Given the description of an element on the screen output the (x, y) to click on. 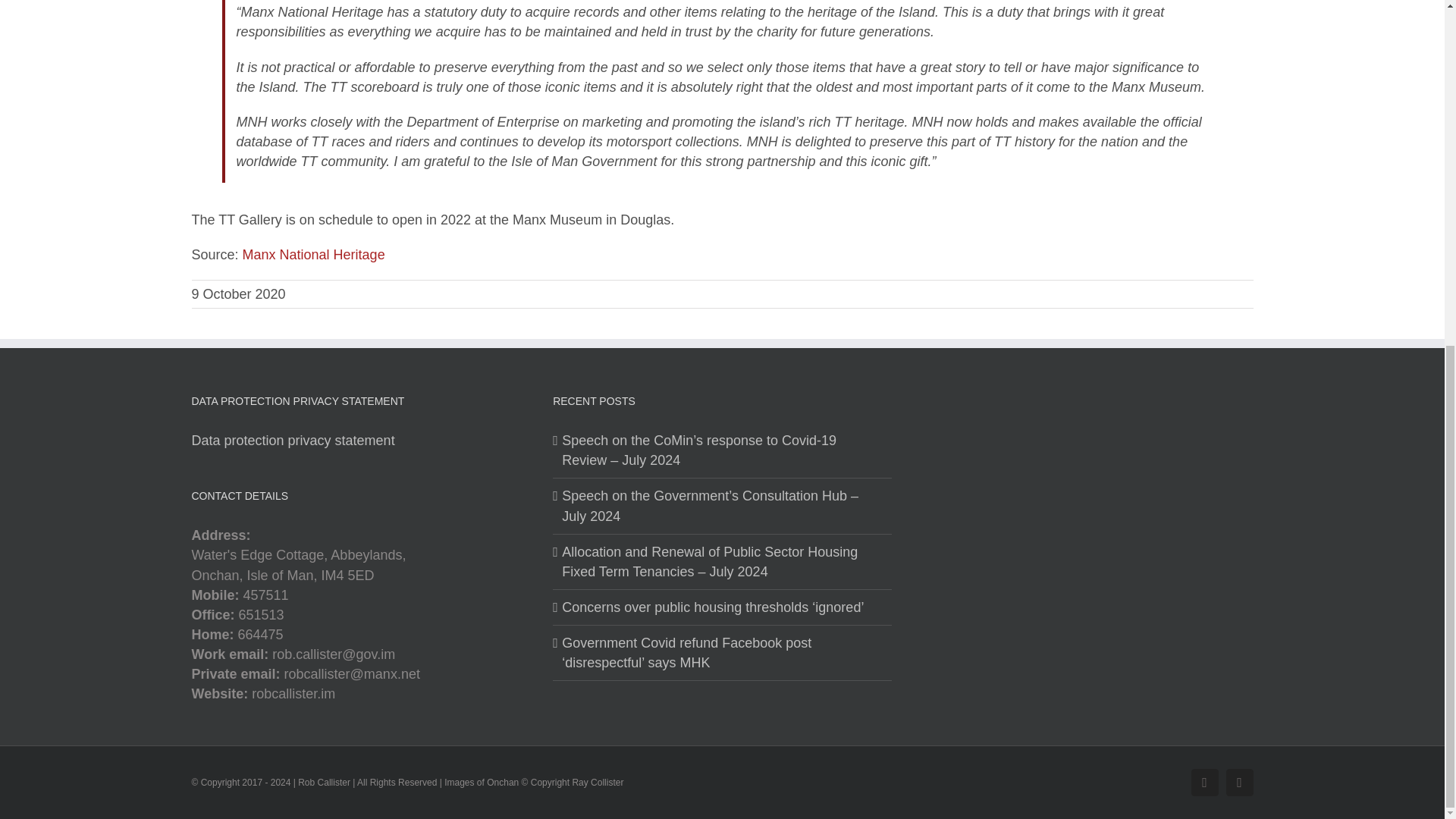
Facebook (1204, 782)
Data protection privacy statement (292, 440)
X (1238, 782)
X (1238, 782)
Manx National Heritage (314, 254)
Facebook (1204, 782)
